Given the description of an element on the screen output the (x, y) to click on. 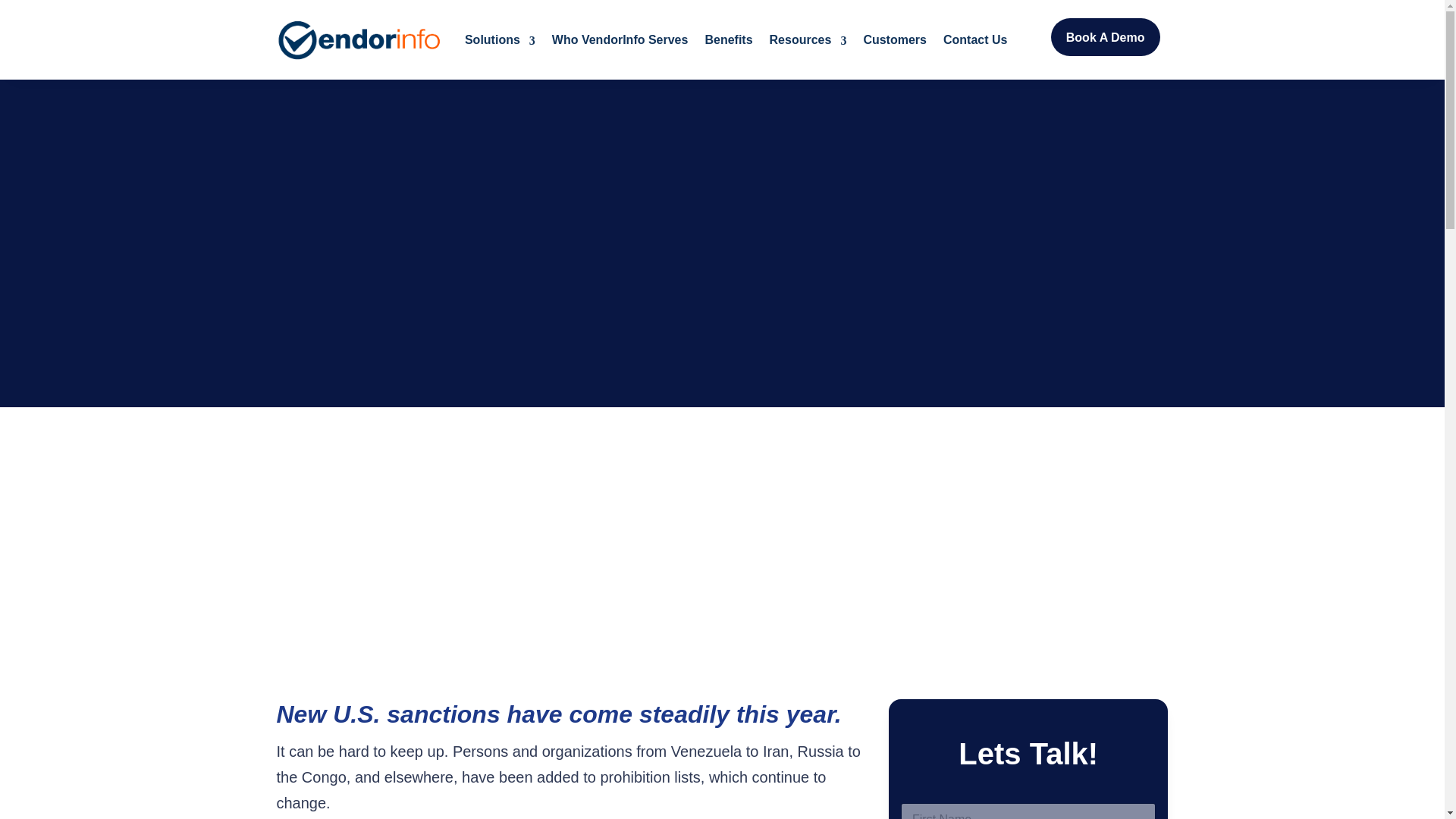
Contact Us (975, 39)
Solutions (499, 39)
Book A Demo (1105, 37)
Who VendorInfo Serves (619, 39)
Resources (808, 39)
Customers (894, 39)
